Given the description of an element on the screen output the (x, y) to click on. 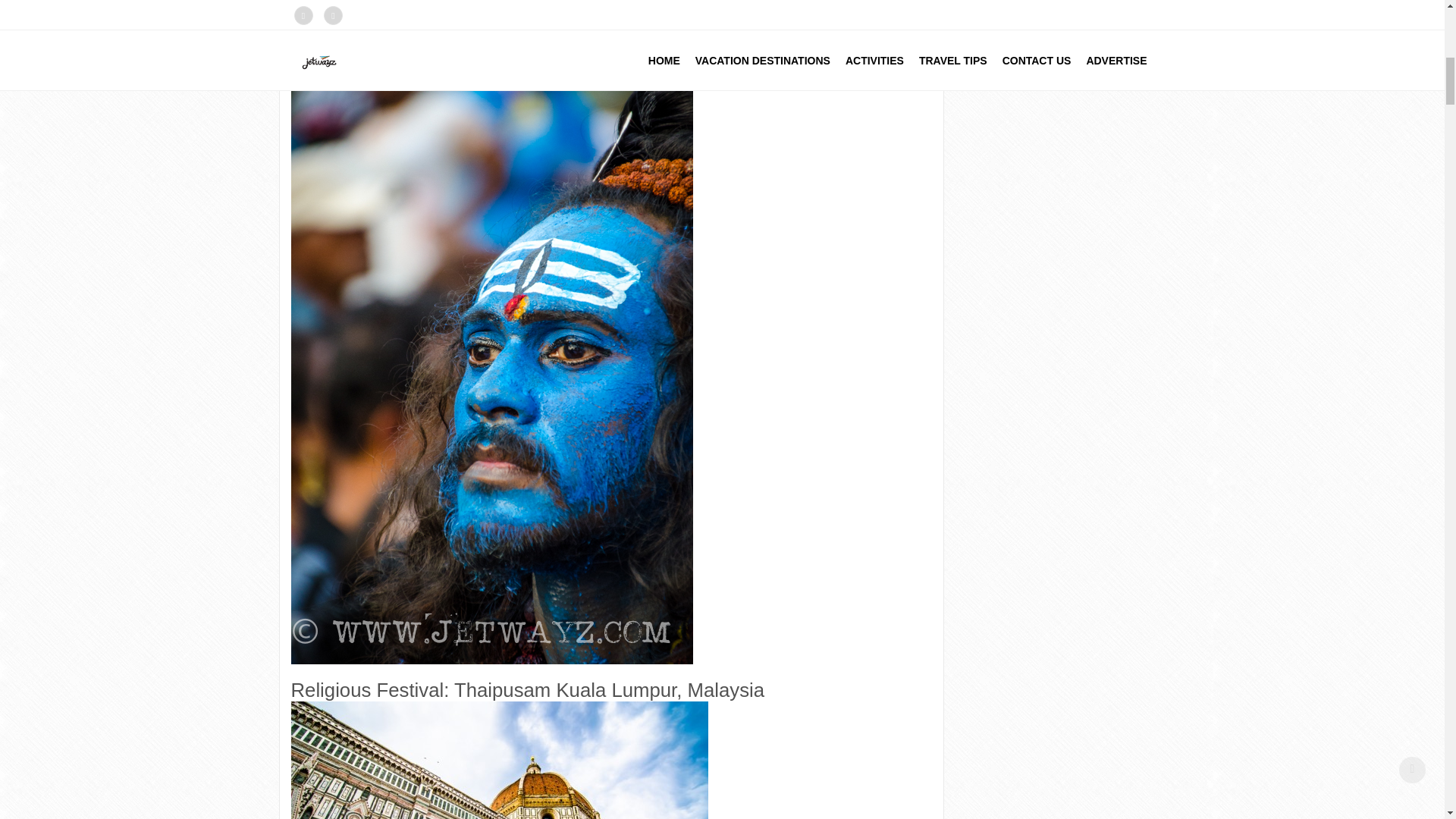
Spiritual Beauty-2 (499, 760)
